Given the description of an element on the screen output the (x, y) to click on. 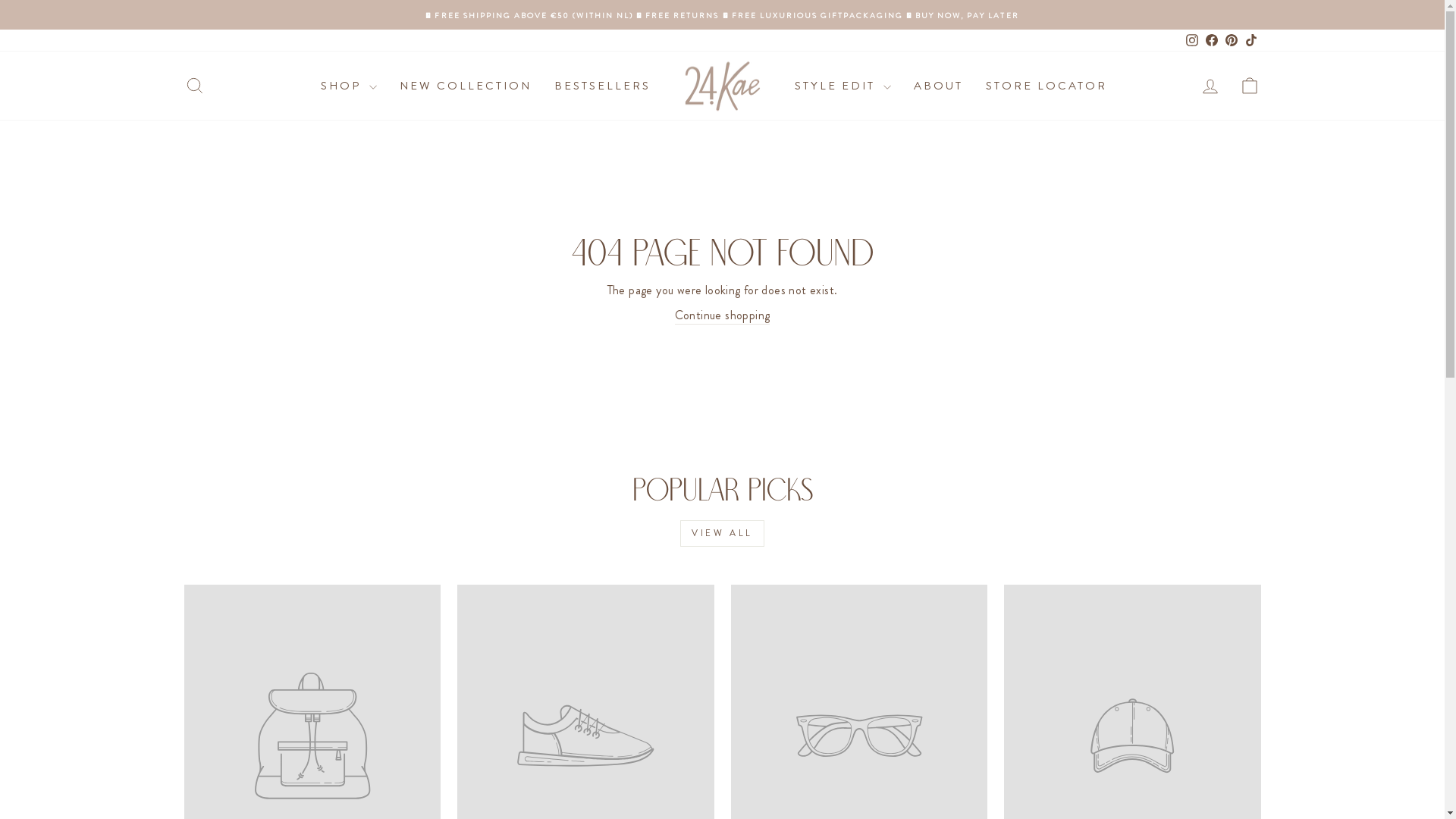
ACCOUNT
LOG IN Element type: text (1210, 85)
TikTok Element type: text (1250, 40)
Continue shopping Element type: text (722, 315)
NEW COLLECTION Element type: text (465, 85)
Pinterest Element type: text (1230, 40)
BESTSELLERS Element type: text (602, 85)
ABOUT Element type: text (938, 85)
VIEW ALL Element type: text (722, 533)
ICON-BAG-MINIMAL
CART Element type: text (1249, 85)
Facebook Element type: text (1210, 40)
ICON-SEARCH
SEARCH Element type: text (193, 85)
instagram
Instagram Element type: text (1191, 40)
STORE LOCATOR Element type: text (1045, 85)
